Given the description of an element on the screen output the (x, y) to click on. 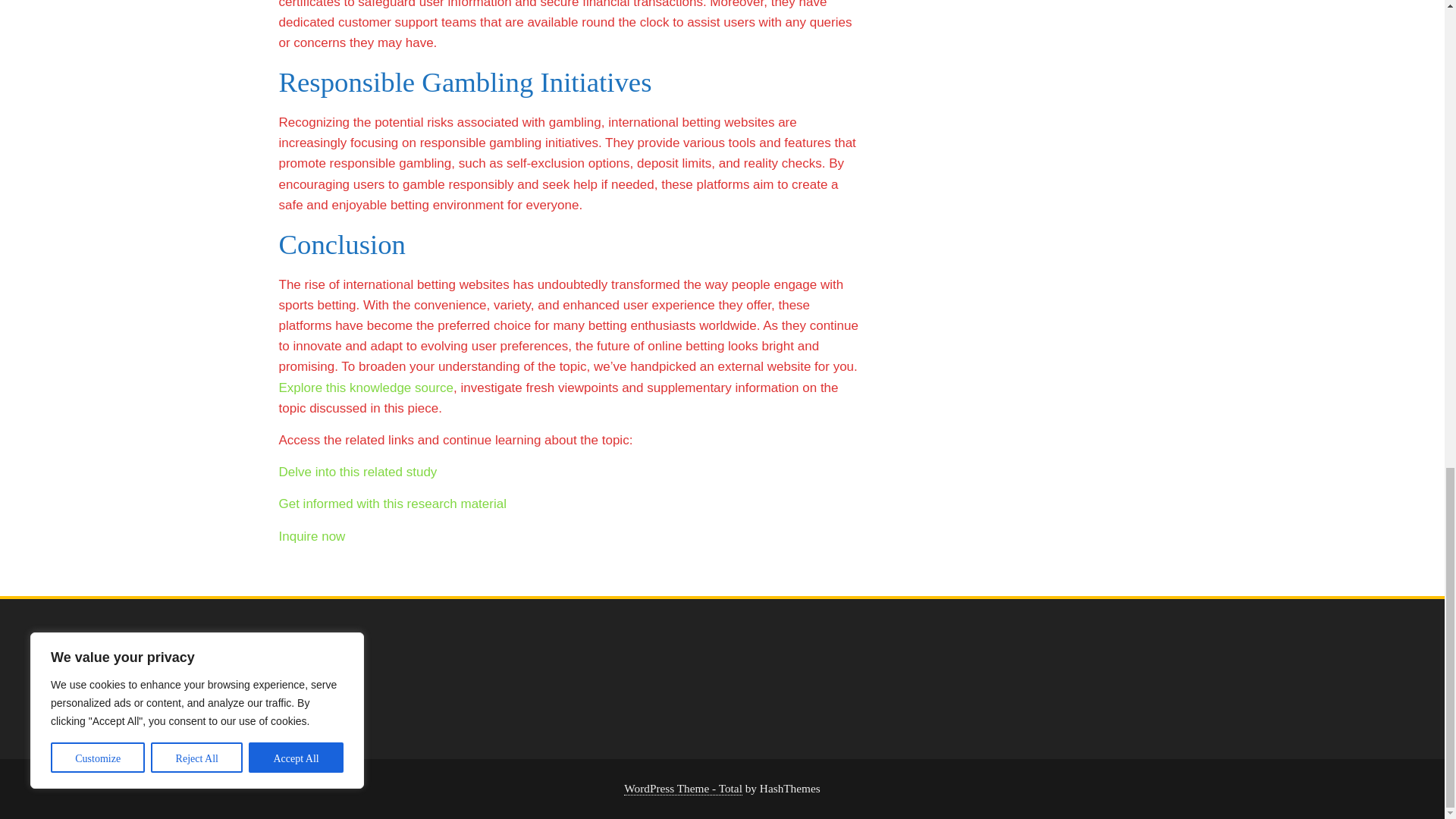
Get informed with this research material (392, 503)
Inquire now (312, 536)
Explore this knowledge source (366, 387)
Delve into this related study (358, 472)
